Given the description of an element on the screen output the (x, y) to click on. 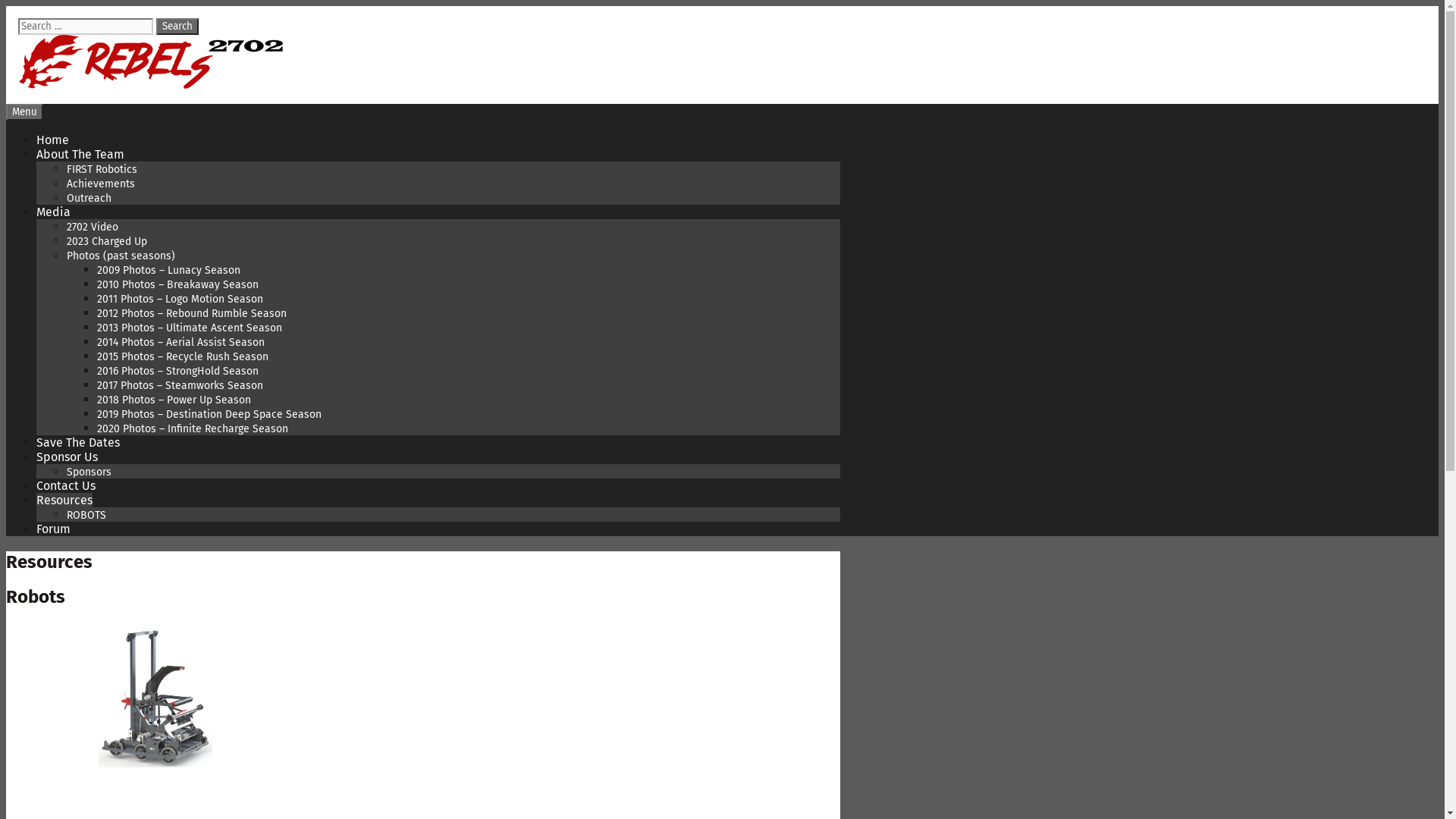
About The Team Element type: text (80, 154)
Media Element type: text (53, 211)
2702 Rebels Element type: hover (151, 61)
Photos (past seasons) Element type: text (120, 255)
Sponsors Element type: text (88, 471)
Search for: Element type: hover (85, 26)
2023 Charged Up Element type: text (106, 241)
Menu Element type: text (24, 111)
2702 Video Element type: text (92, 226)
Contact Us Element type: text (65, 485)
Sponsor Us Element type: text (66, 456)
2702 Rebels Element type: hover (151, 84)
ROBOTS Element type: text (86, 514)
Resources Element type: text (64, 499)
Save The Dates Element type: text (77, 442)
Achievements Element type: text (100, 183)
Forum Element type: text (53, 528)
FIRST Robotics Element type: text (101, 169)
Skip to content Element type: text (5, 5)
Search Element type: text (177, 26)
Home Element type: text (52, 139)
Outreach Element type: text (88, 197)
